Given the description of an element on the screen output the (x, y) to click on. 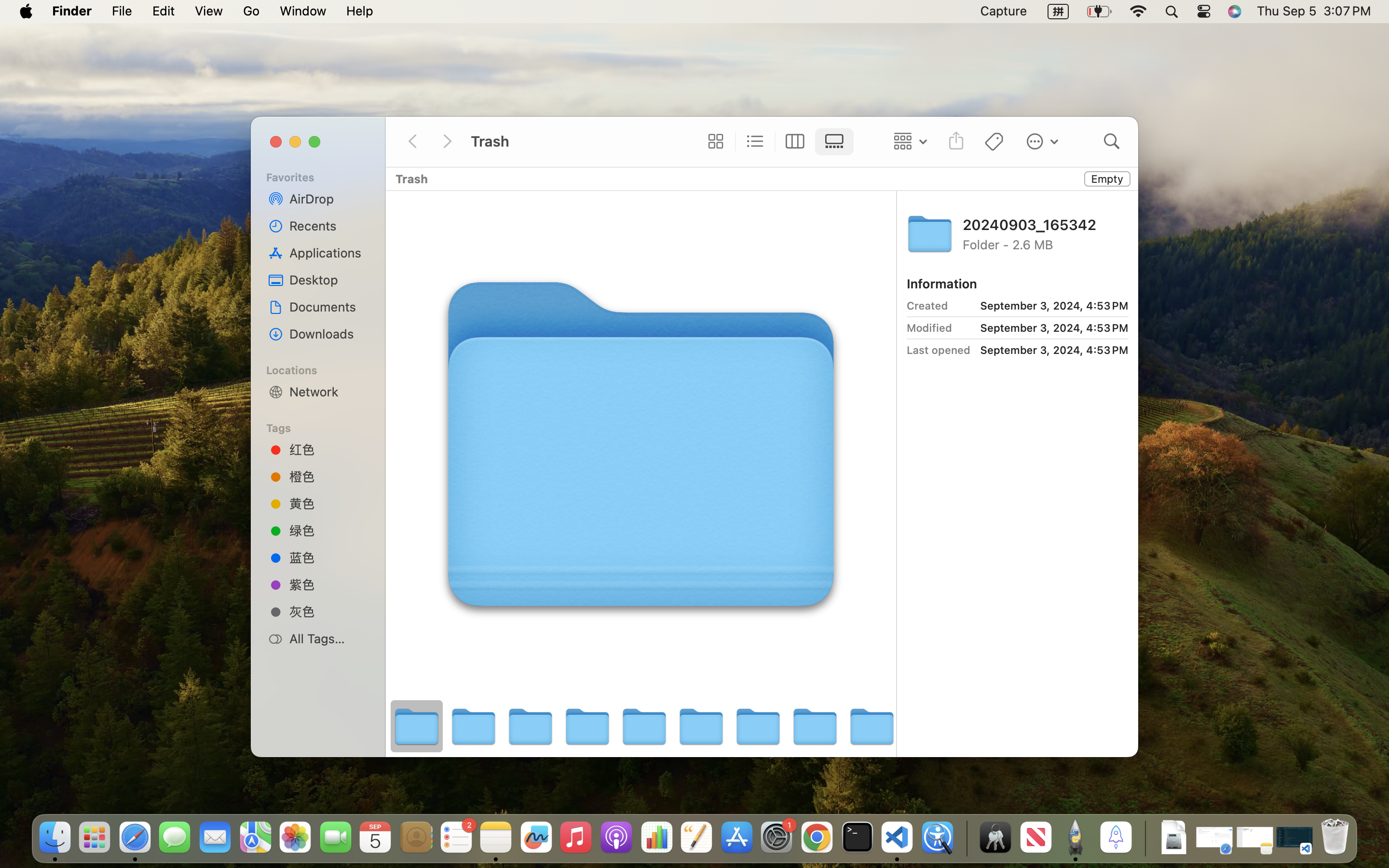
Recents Element type: AXStaticText (328, 225)
橙色 Element type: AXStaticText (328, 476)
Applications Element type: AXStaticText (328, 252)
蓝色 Element type: AXStaticText (328, 557)
绿色 Element type: AXStaticText (328, 530)
